Given the description of an element on the screen output the (x, y) to click on. 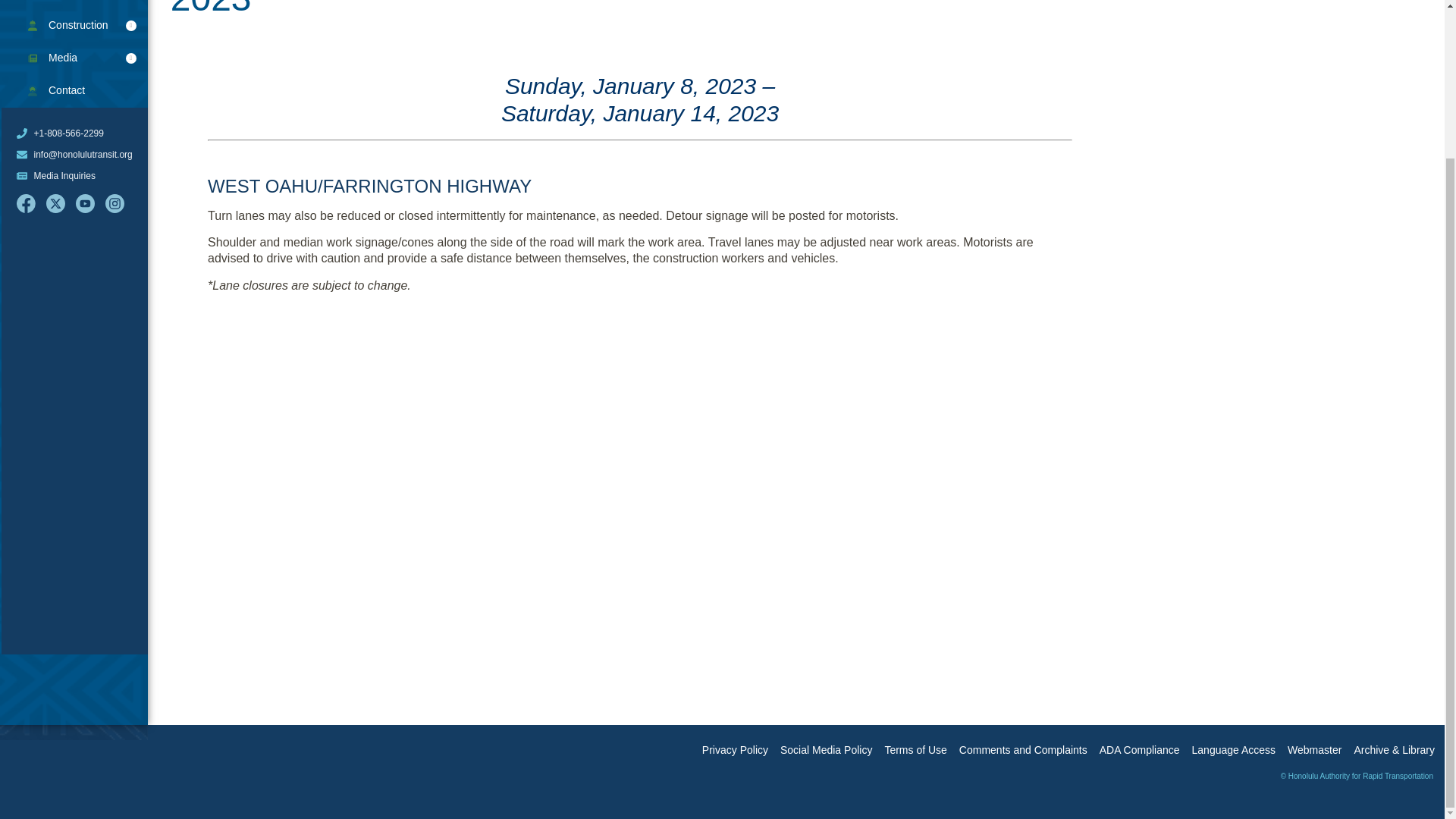
Media (74, 58)
Construction (74, 25)
FAQs (74, 4)
